Given the description of an element on the screen output the (x, y) to click on. 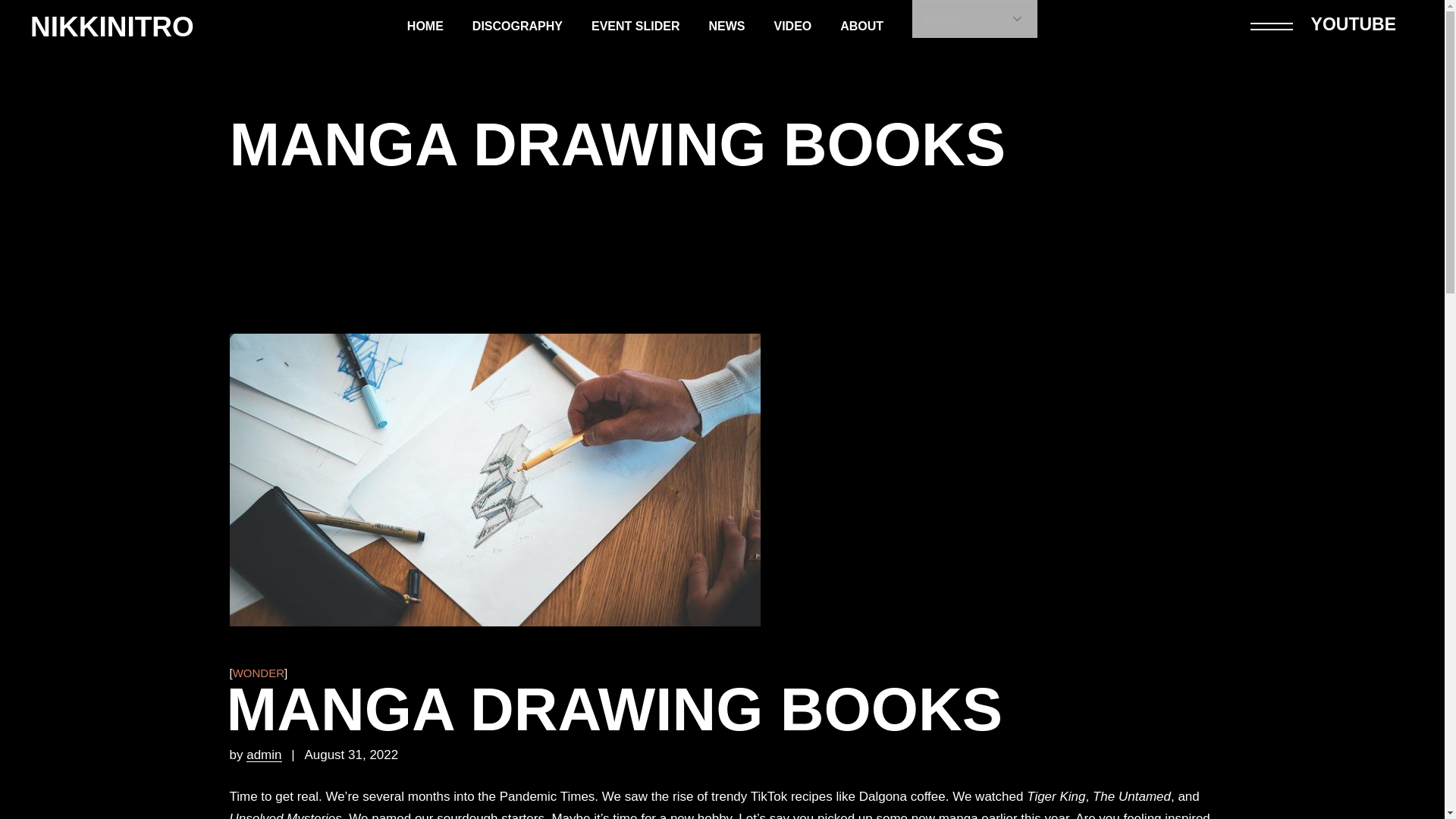
August 31, 2022 (350, 754)
EVENT SLIDER (635, 26)
DISCOGRAPHY (516, 26)
YOUTUBE (1353, 23)
NIKKINITRO (111, 26)
by admin (263, 754)
new manga (944, 815)
WONDER (257, 672)
